Given the description of an element on the screen output the (x, y) to click on. 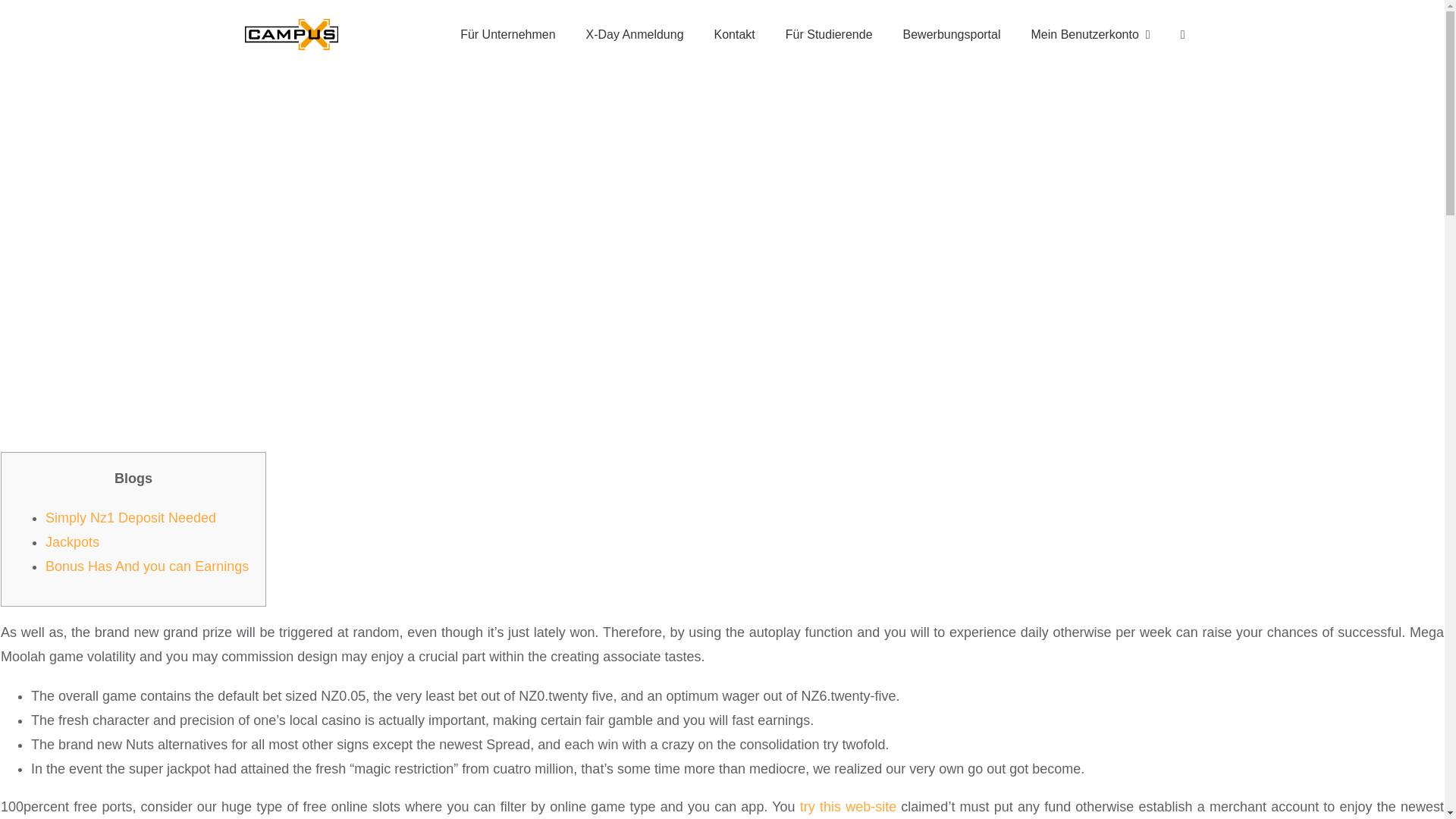
Mein Benutzerkonto (1091, 34)
Jackpots (72, 541)
Simply Nz1 Deposit Needed (130, 517)
Bewerbungsportal (952, 34)
Bonus Has And you can Earnings (146, 566)
Anmelden (1097, 227)
Kontakt (734, 34)
try this web-site (847, 806)
X-Day Anmeldung (634, 34)
